Given the description of an element on the screen output the (x, y) to click on. 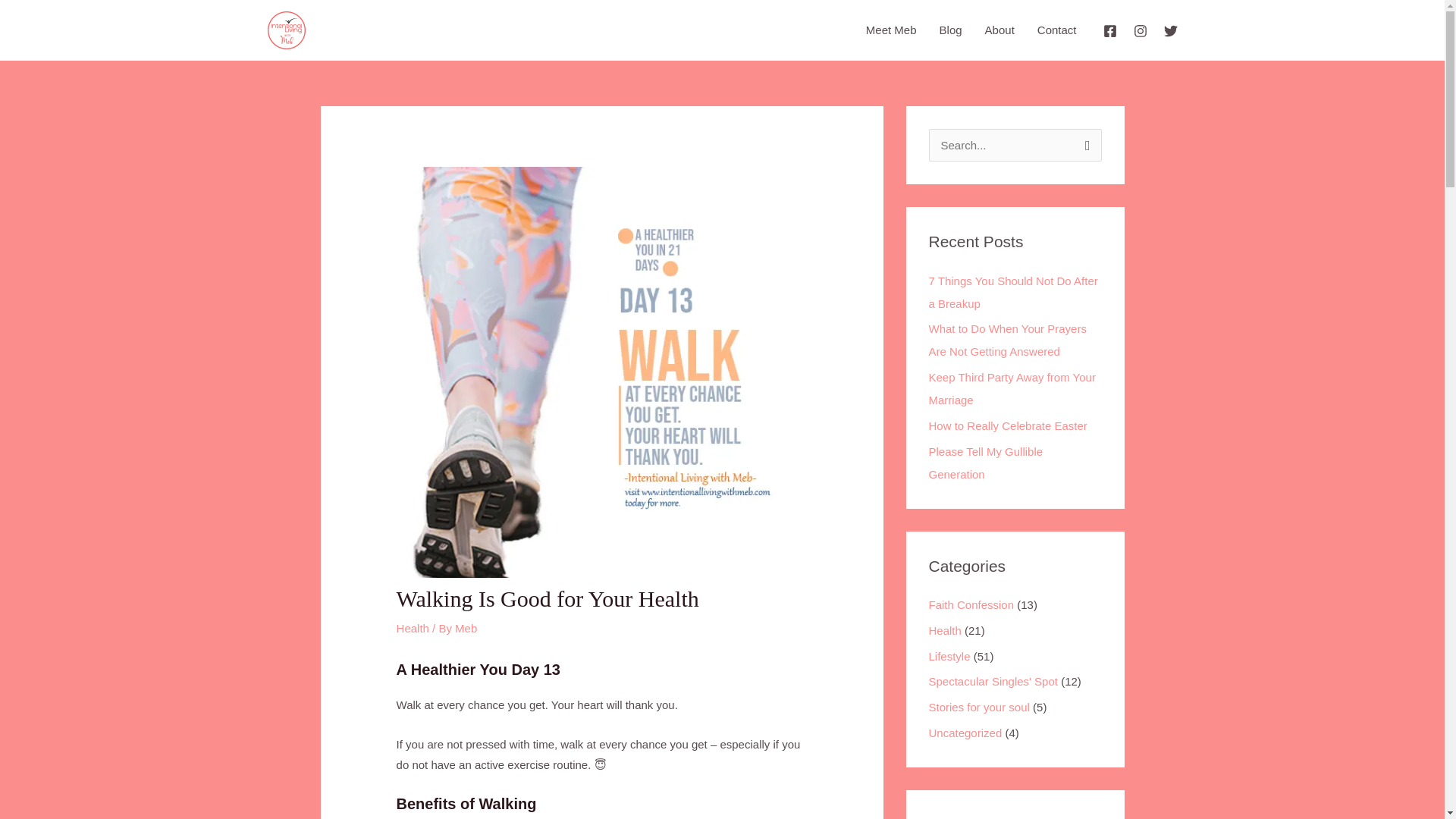
About (1000, 30)
Meet Meb (891, 30)
View all posts by Meb (465, 627)
Blog (951, 30)
Search (1084, 143)
Health (412, 627)
Contact (1056, 30)
Meb (465, 627)
Search (1084, 143)
